Given the description of an element on the screen output the (x, y) to click on. 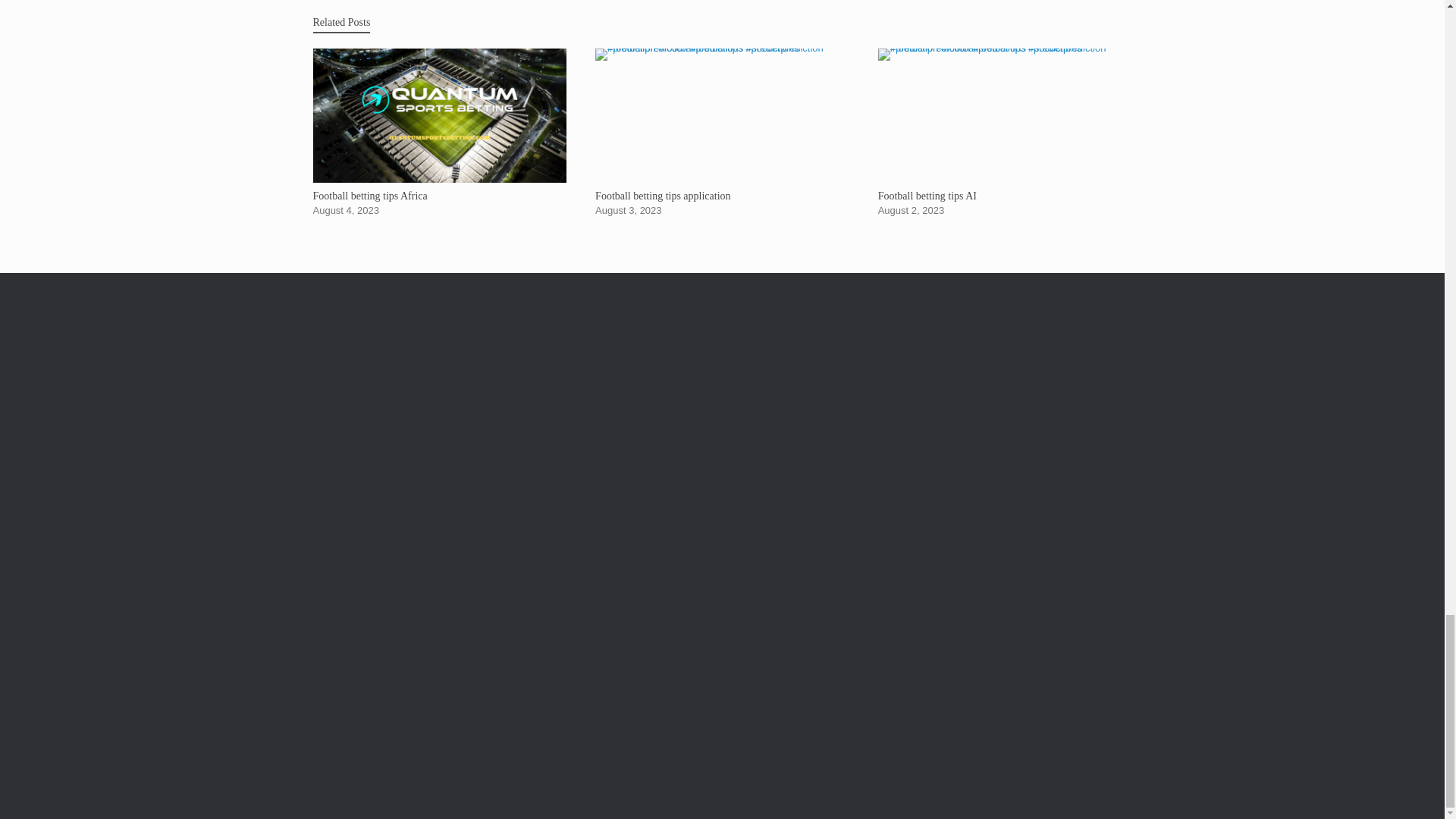
Football betting tips application (721, 132)
Football betting tips AI (1004, 132)
Football betting tips Africa (439, 132)
